Given the description of an element on the screen output the (x, y) to click on. 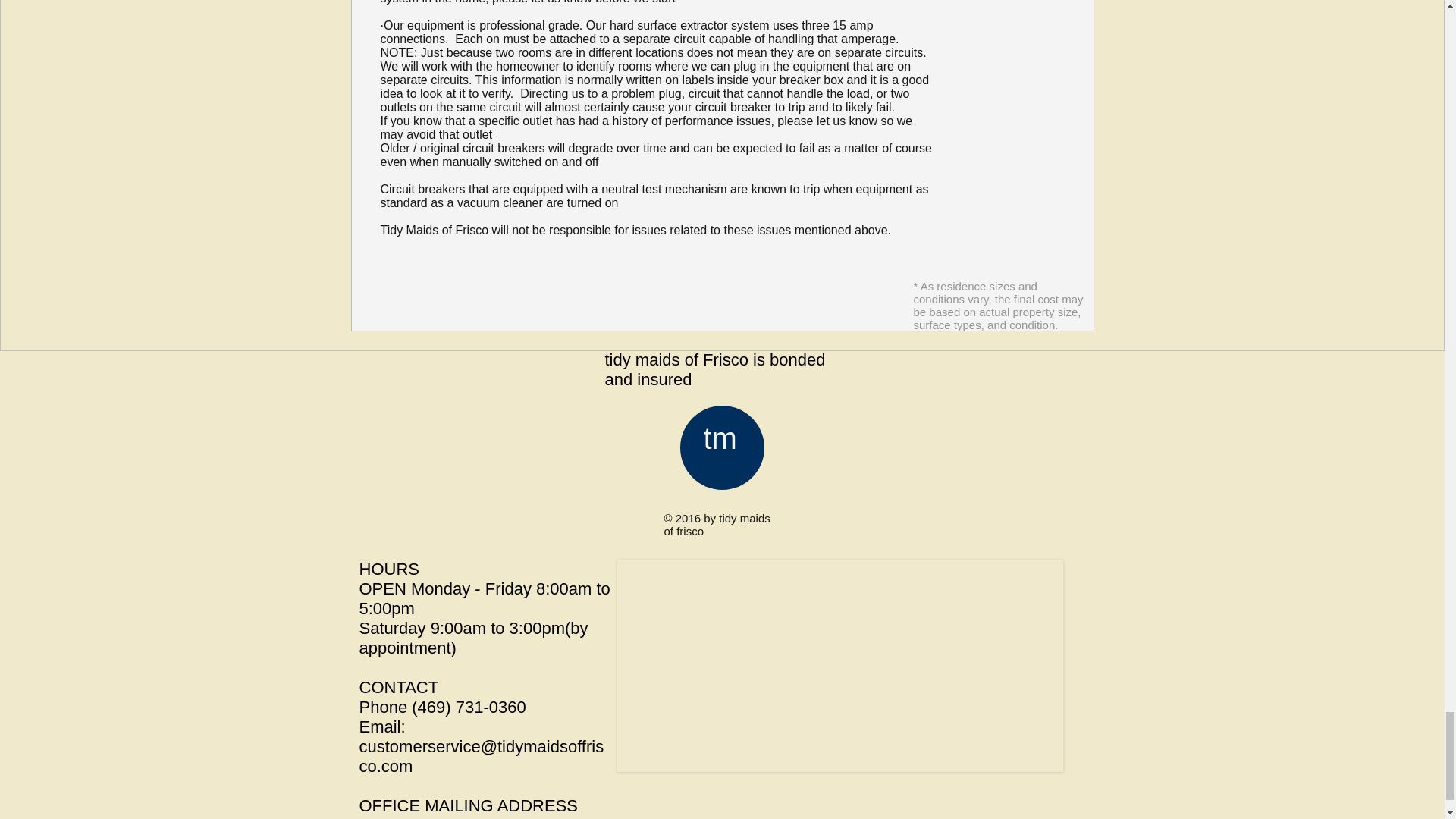
tm (719, 438)
